Given the description of an element on the screen output the (x, y) to click on. 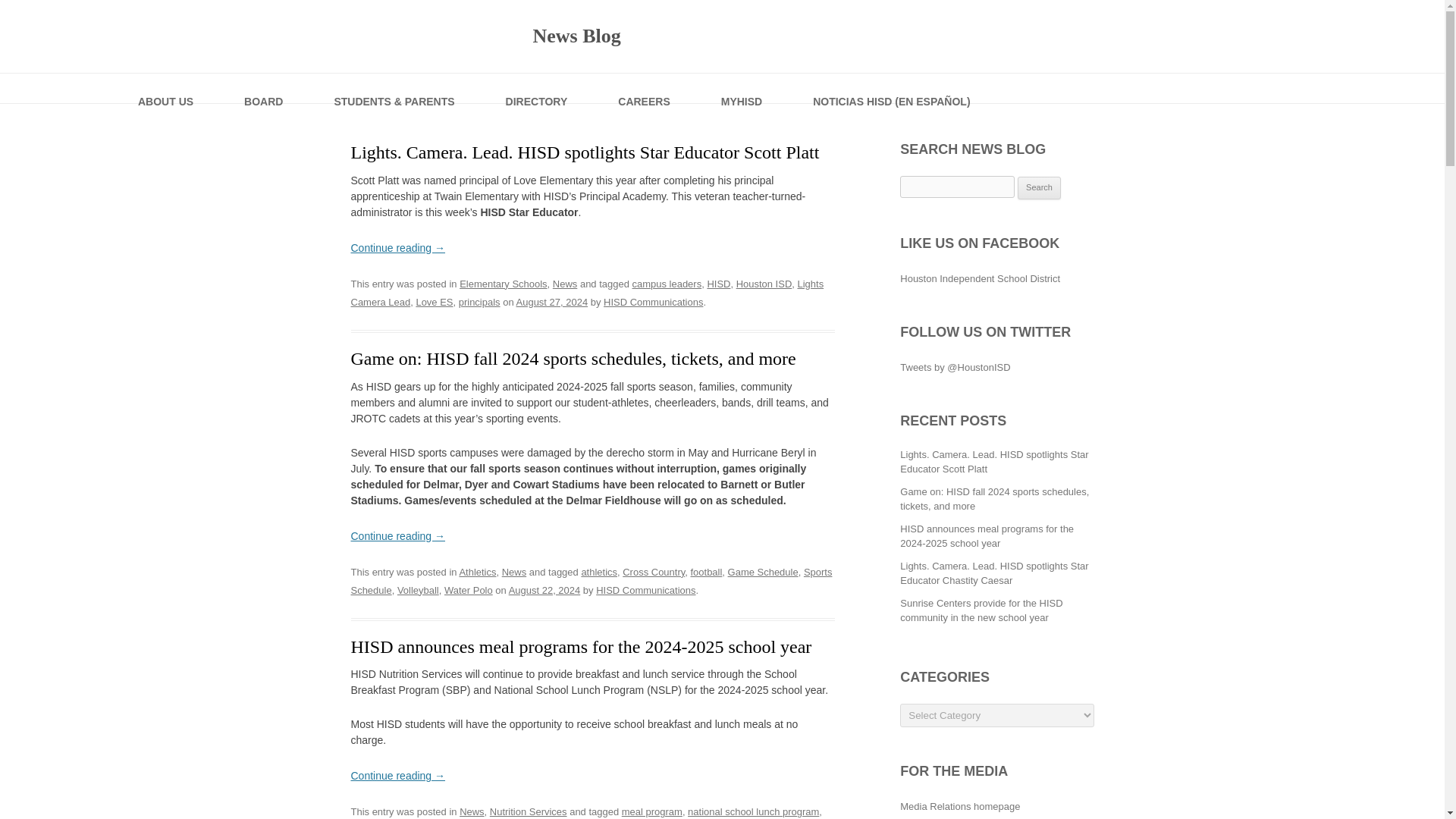
August 22, 2024 (544, 590)
Athletics (477, 572)
2:51 pm (544, 590)
CAREERS (644, 88)
Sports Schedule (590, 581)
athletics (598, 572)
Volleyball (418, 590)
DIRECTORY (537, 88)
News (471, 811)
campus leaders (666, 283)
